Given the description of an element on the screen output the (x, y) to click on. 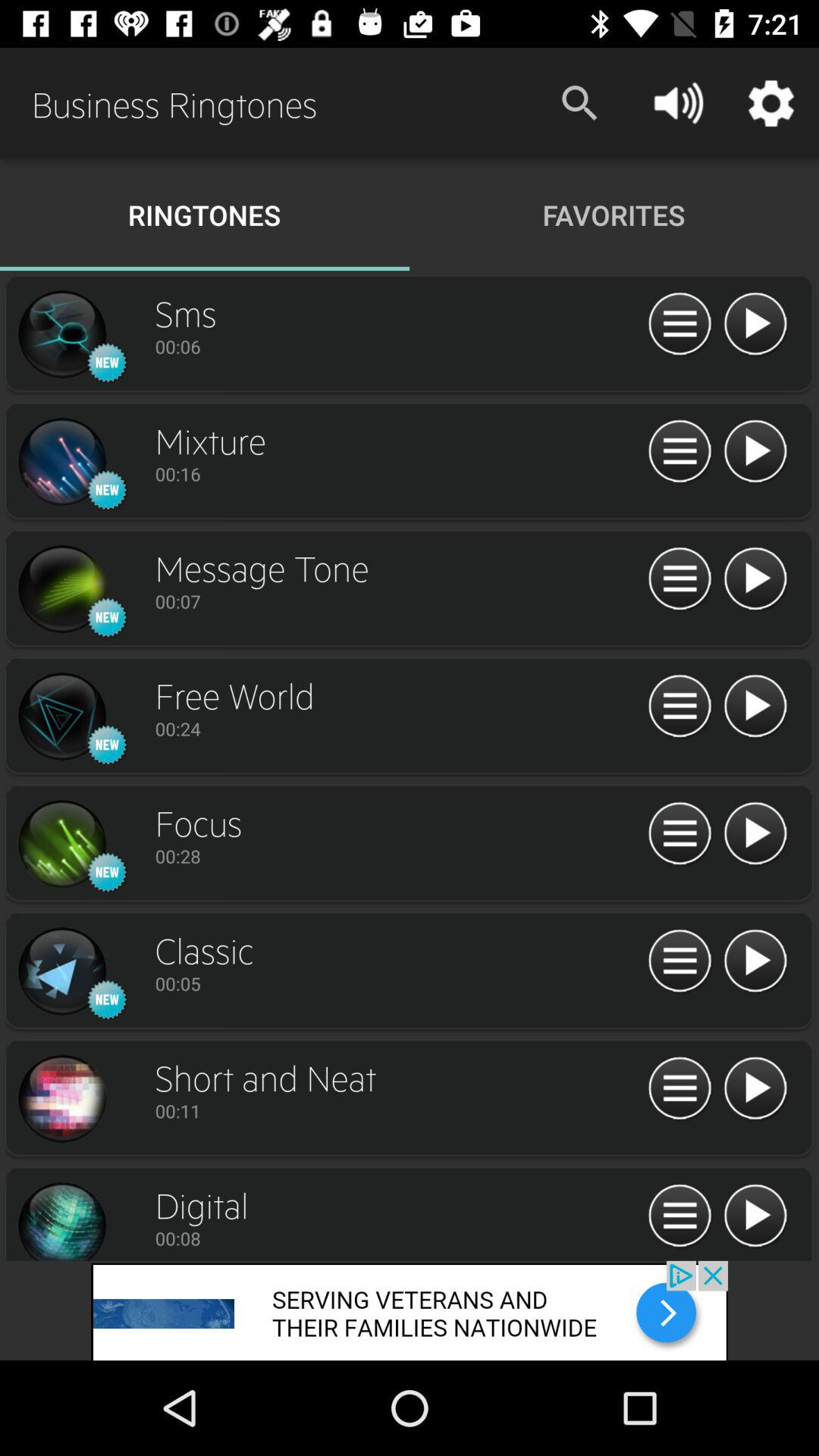
play audio (755, 451)
